Given the description of an element on the screen output the (x, y) to click on. 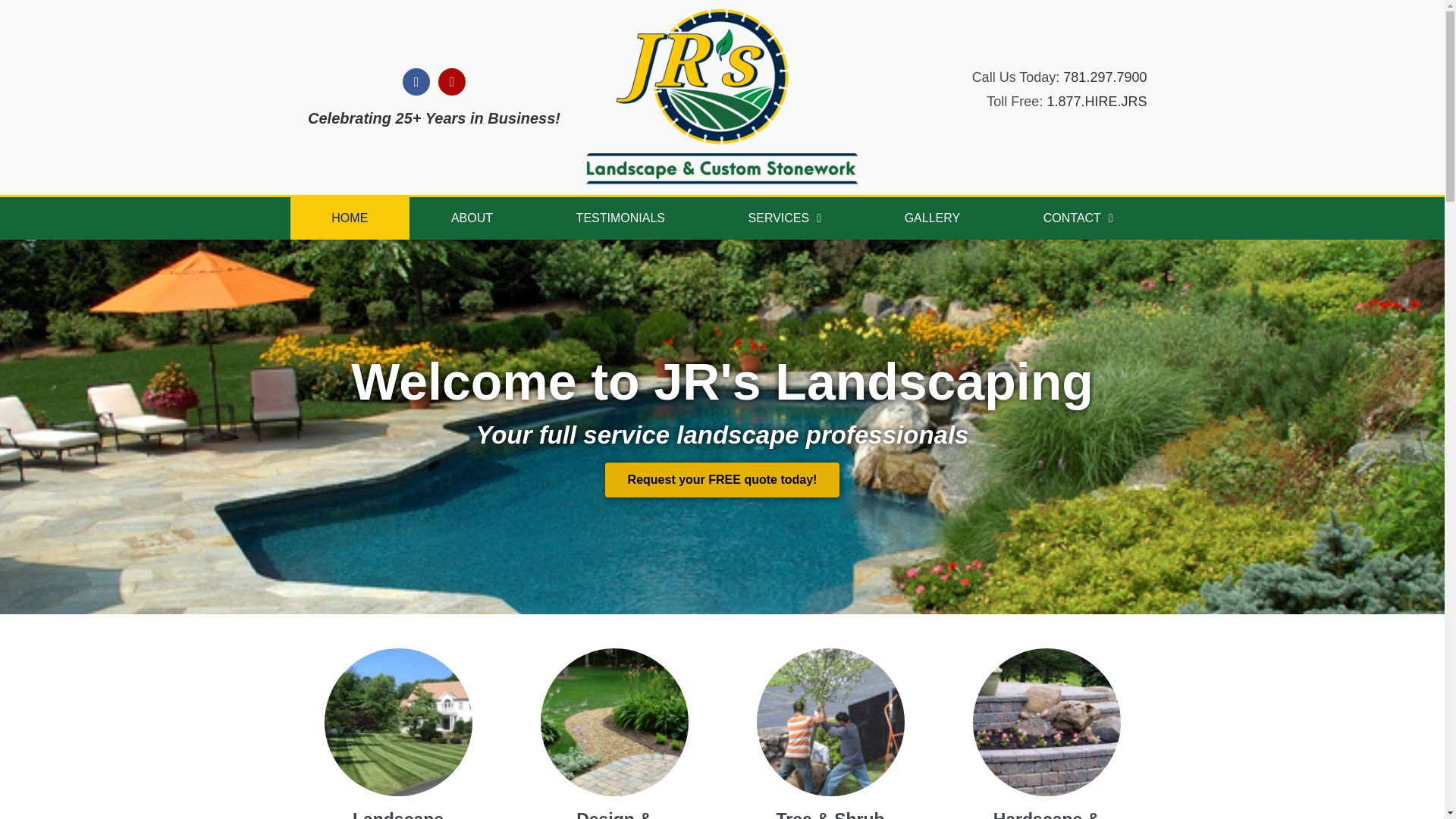
1.877.HIRE.JRS (1096, 101)
HOME (349, 218)
CONTACT (1077, 218)
GALLERY (932, 218)
TESTIMONIALS (620, 218)
ABOUT (471, 218)
SERVICES (784, 218)
781.297.7900 (1104, 77)
